Given the description of an element on the screen output the (x, y) to click on. 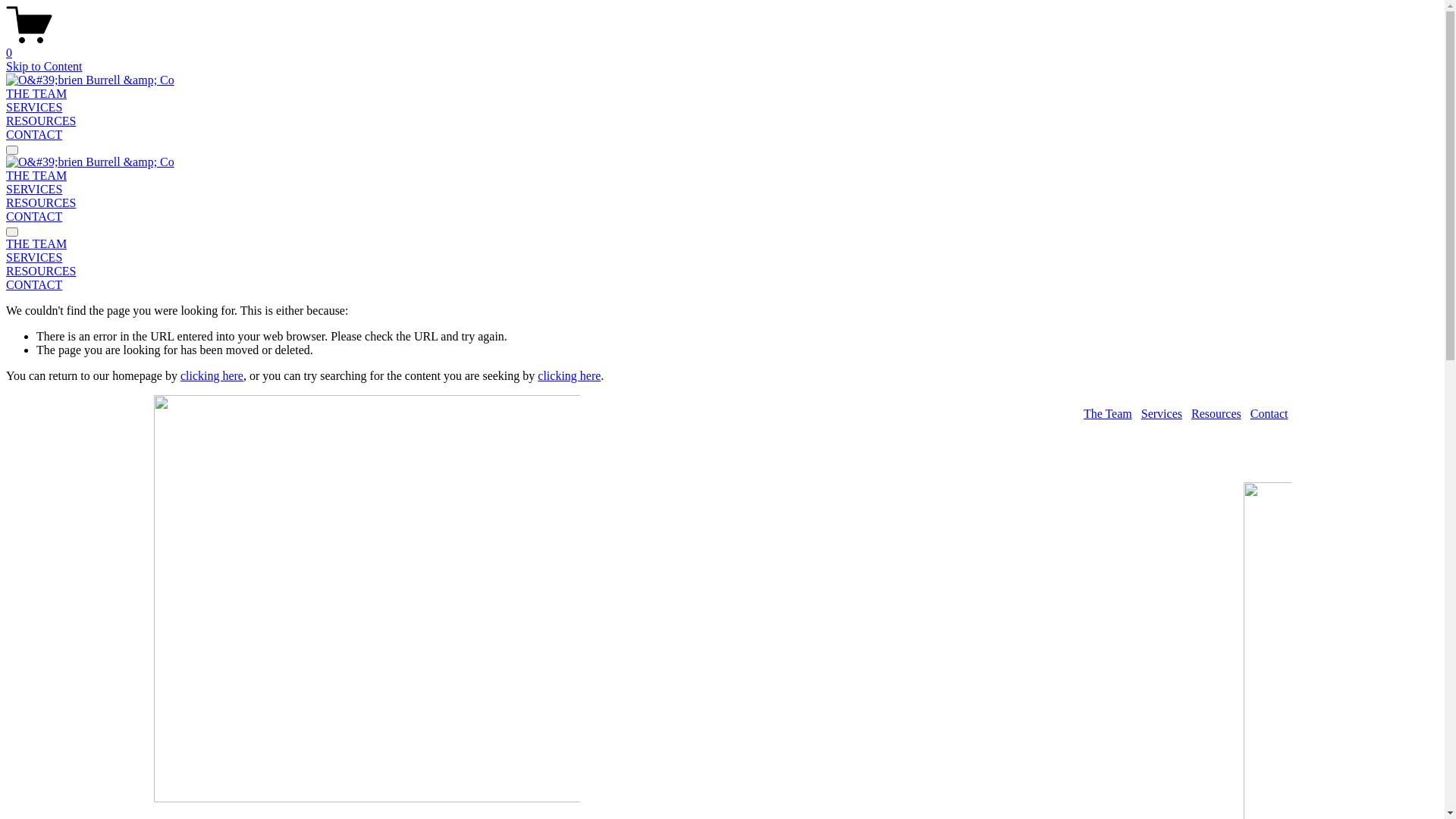
CONTACT Element type: text (34, 134)
CONTACT Element type: text (722, 284)
THE TEAM Element type: text (36, 175)
clicking here Element type: text (568, 375)
0 Element type: text (722, 45)
THE TEAM Element type: text (722, 244)
RESOURCES Element type: text (40, 202)
RESOURCES Element type: text (40, 120)
Resources Element type: text (1216, 413)
Services Element type: text (1161, 413)
CONTACT Element type: text (34, 216)
clicking here Element type: text (211, 375)
SERVICES Element type: text (34, 188)
THE TEAM Element type: text (36, 93)
SERVICES Element type: text (34, 106)
The Team Element type: text (1107, 413)
Contact Element type: text (1269, 413)
Skip to Content Element type: text (43, 65)
RESOURCES Element type: text (722, 271)
SERVICES Element type: text (722, 257)
